Given the description of an element on the screen output the (x, y) to click on. 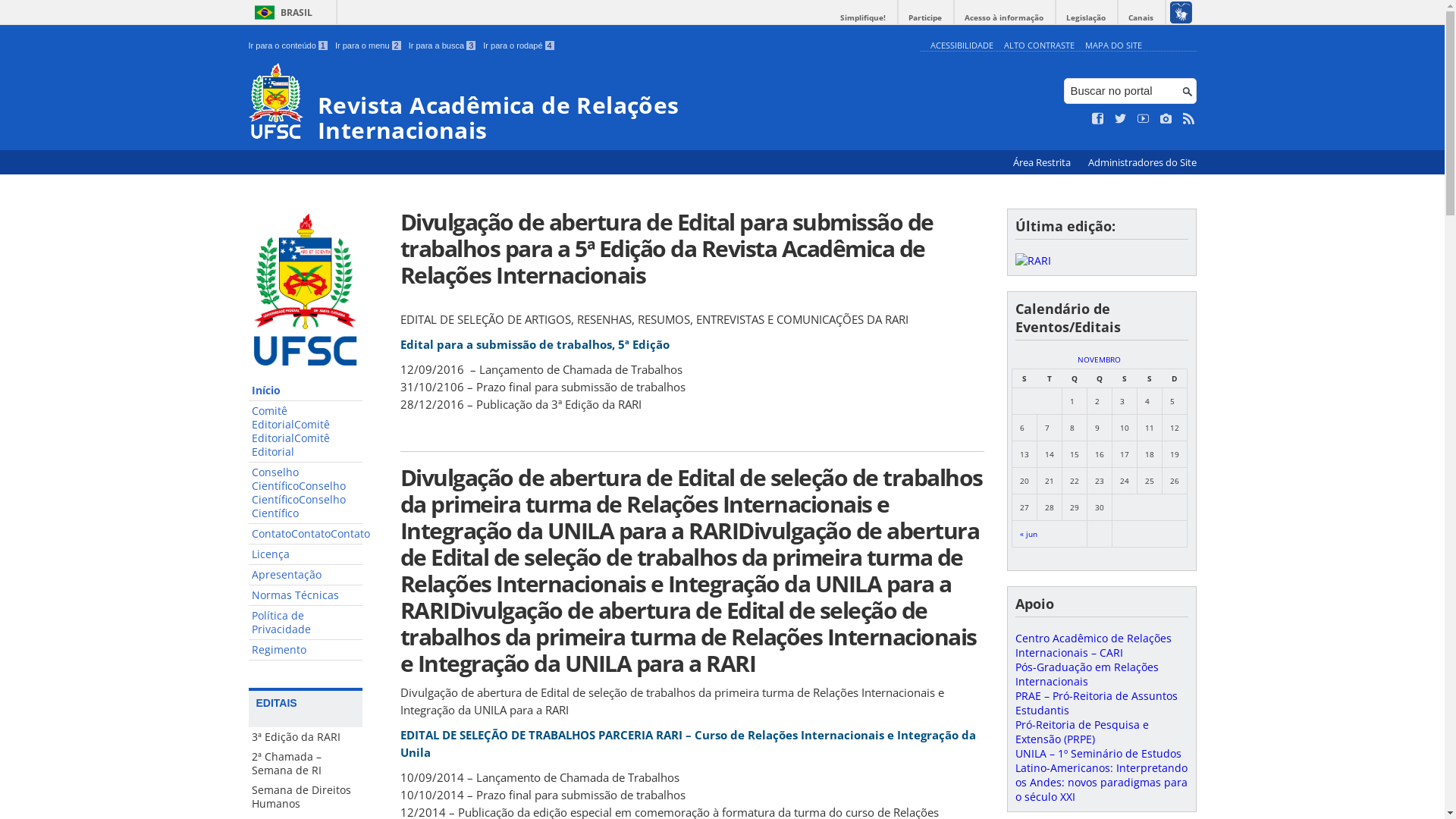
Canais Element type: text (1140, 18)
Siga no Twitter Element type: hover (1120, 118)
NOVEMBRO Element type: text (1098, 359)
ACESSIBILIDADE Element type: text (960, 44)
Ir para a busca 3 Element type: text (442, 45)
Veja no Instagram Element type: hover (1166, 118)
Regimento Element type: text (305, 650)
Participe Element type: text (924, 18)
Curta no Facebook Element type: hover (1098, 118)
BRASIL Element type: text (280, 12)
ContatoContatoContato Element type: text (305, 534)
ALTO CONTRASTE Element type: text (1039, 44)
MAPA DO SITE Element type: text (1112, 44)
Ir para o menu 2 Element type: text (368, 45)
Administradores do Site Element type: text (1141, 162)
Simplifique! Element type: text (862, 18)
Semana de Direitos Humanos Element type: text (305, 796)
